Given the description of an element on the screen output the (x, y) to click on. 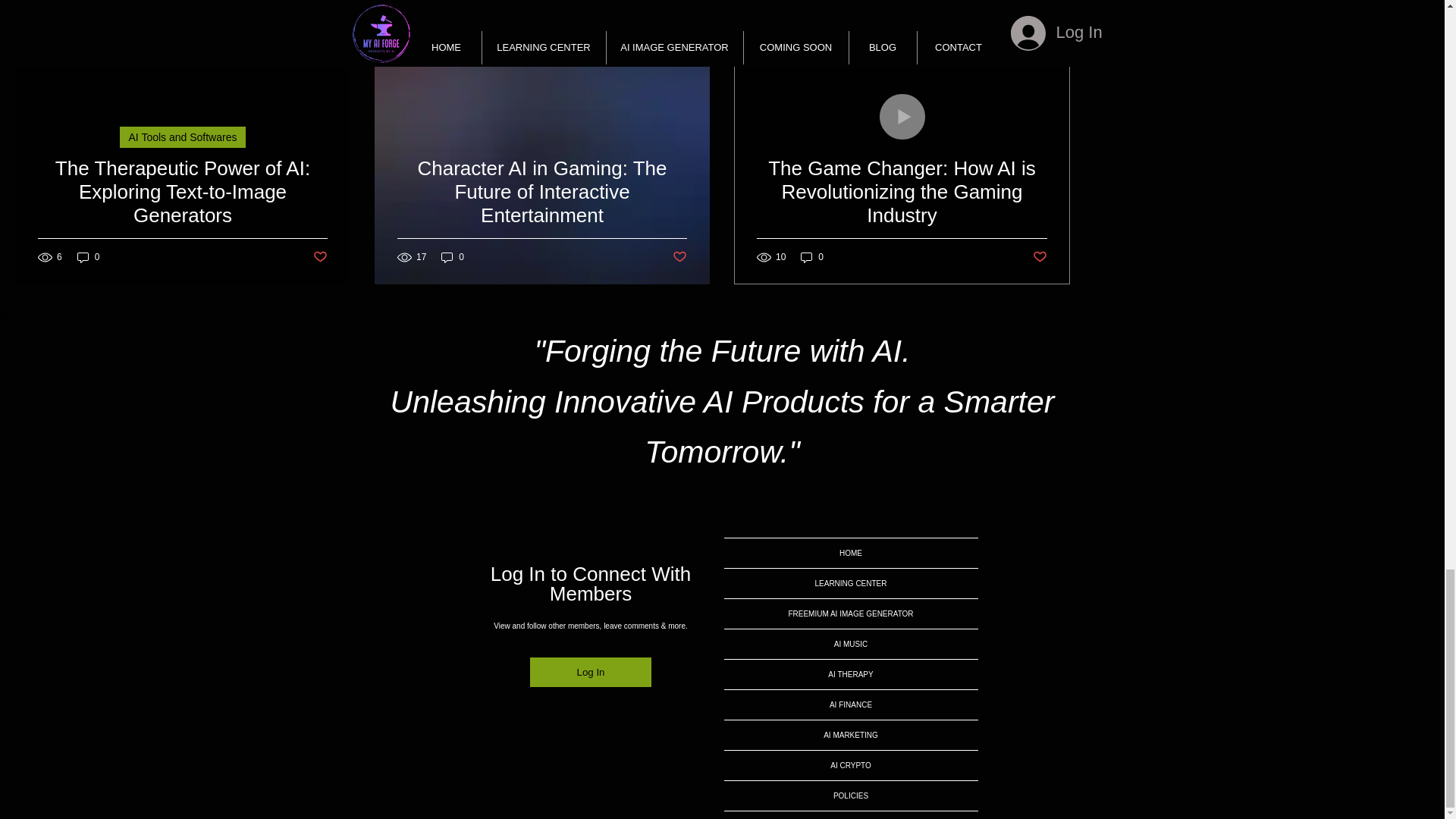
AI Tools and Softwares (182, 137)
Post not marked as liked (320, 257)
0 (88, 257)
